Given the description of an element on the screen output the (x, y) to click on. 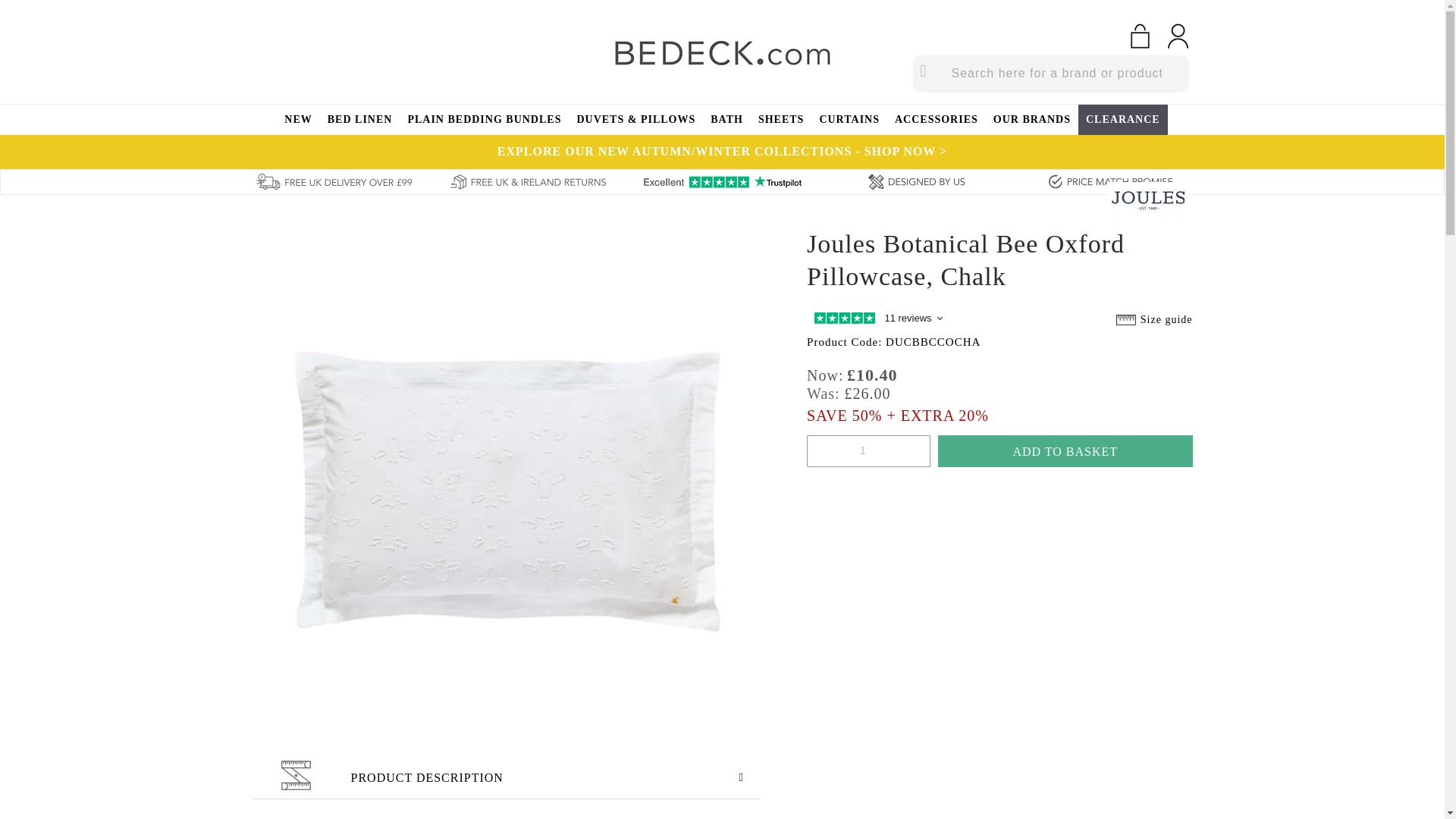
My Cart (1138, 35)
NEW (297, 119)
BED LINEN (360, 119)
Joules (1147, 200)
Customer reviews powered by Trustpilot (874, 321)
Bedeck Bedding Home (721, 52)
Add to Basket (1064, 450)
Sign In (1176, 35)
